Given the description of an element on the screen output the (x, y) to click on. 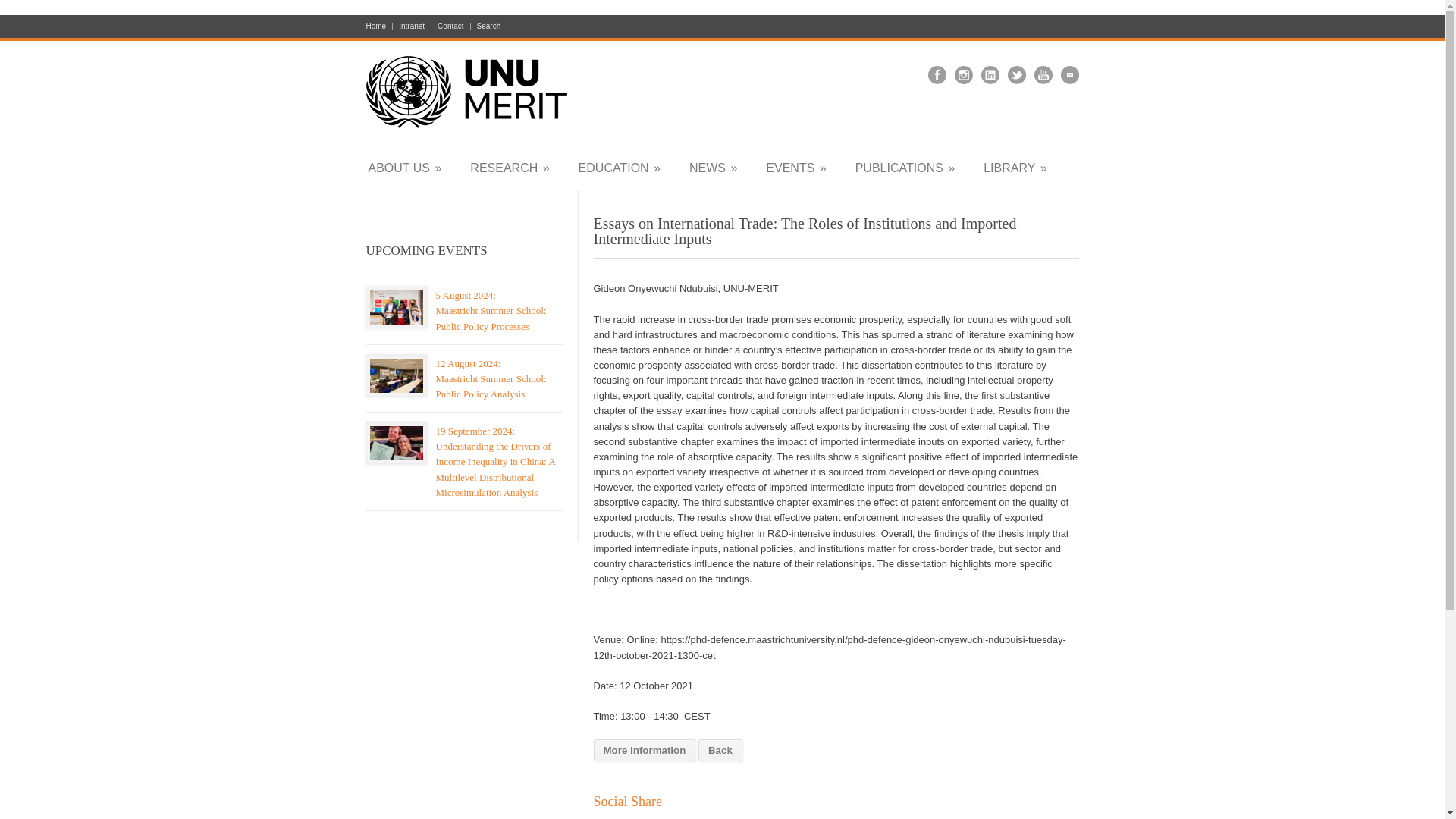
More information (643, 750)
Back (720, 750)
Intranet (411, 26)
Search (485, 26)
Home (379, 26)
Contact (450, 26)
